Given the description of an element on the screen output the (x, y) to click on. 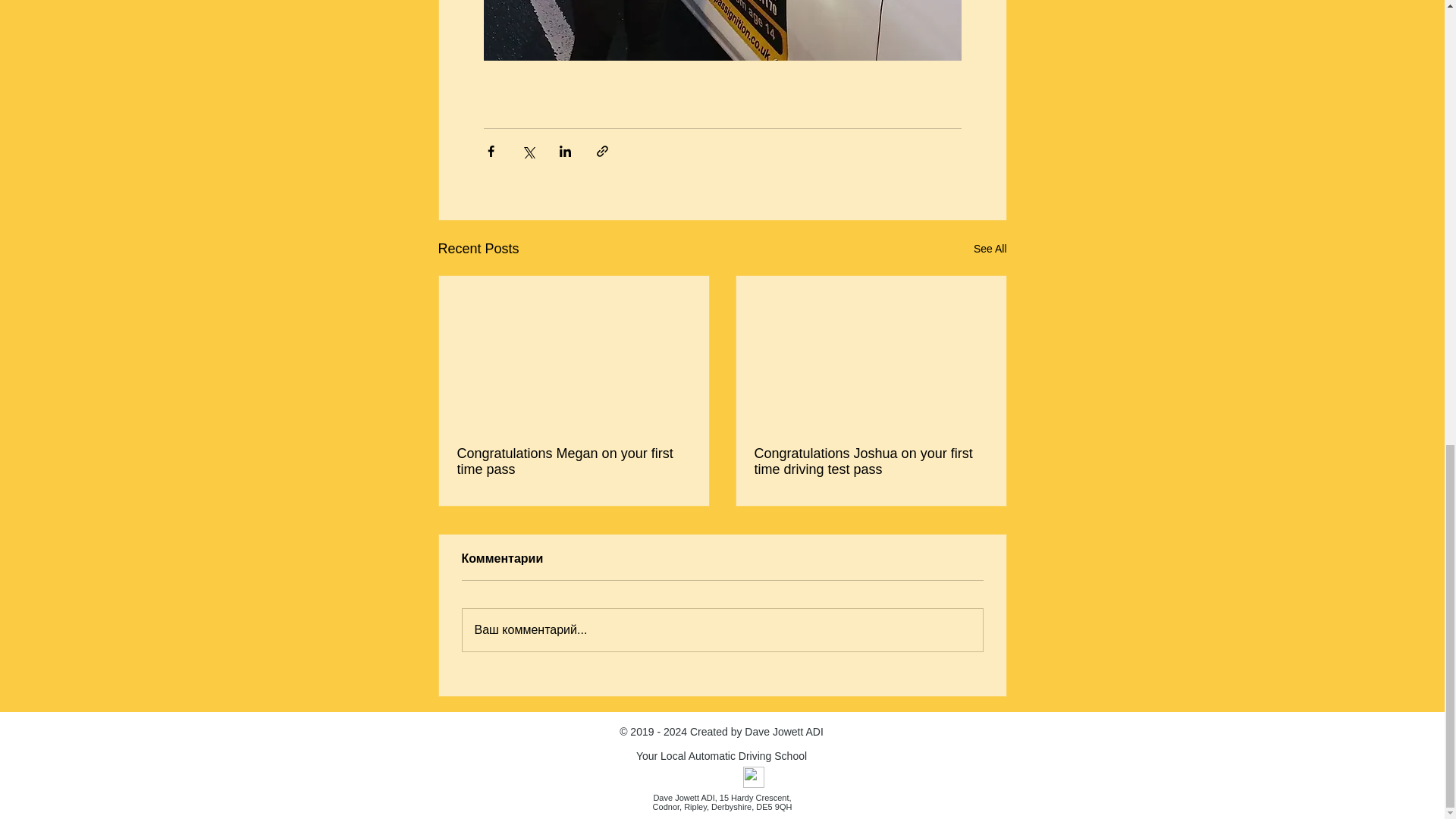
Congratulations Megan on your first time pass (573, 461)
Congratulations Joshua on your first time driving test pass (870, 461)
See All (990, 249)
